Given the description of an element on the screen output the (x, y) to click on. 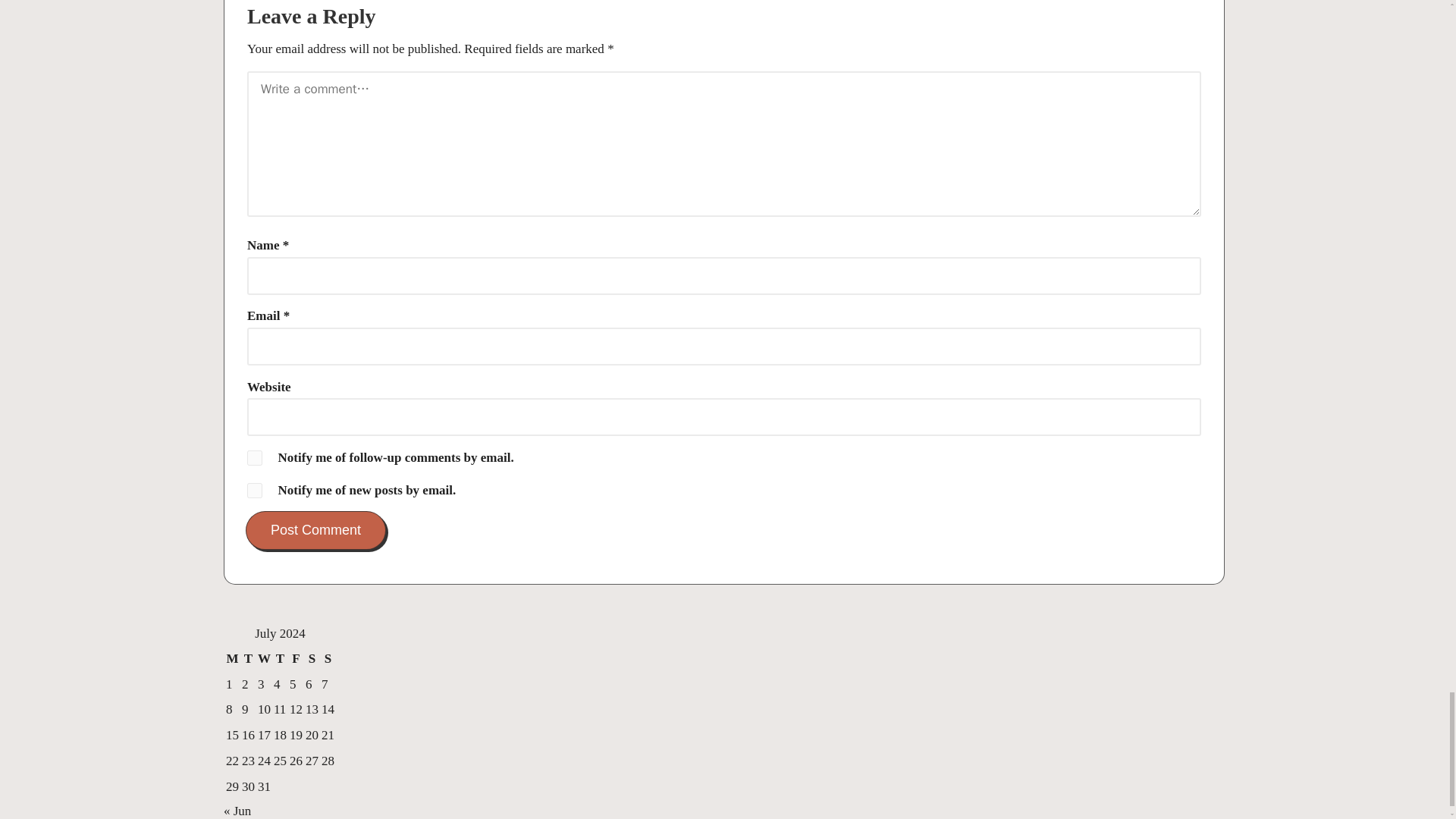
subscribe (254, 458)
Monday (232, 658)
Post Comment (315, 530)
subscribe (254, 490)
Tuesday (248, 658)
